Given the description of an element on the screen output the (x, y) to click on. 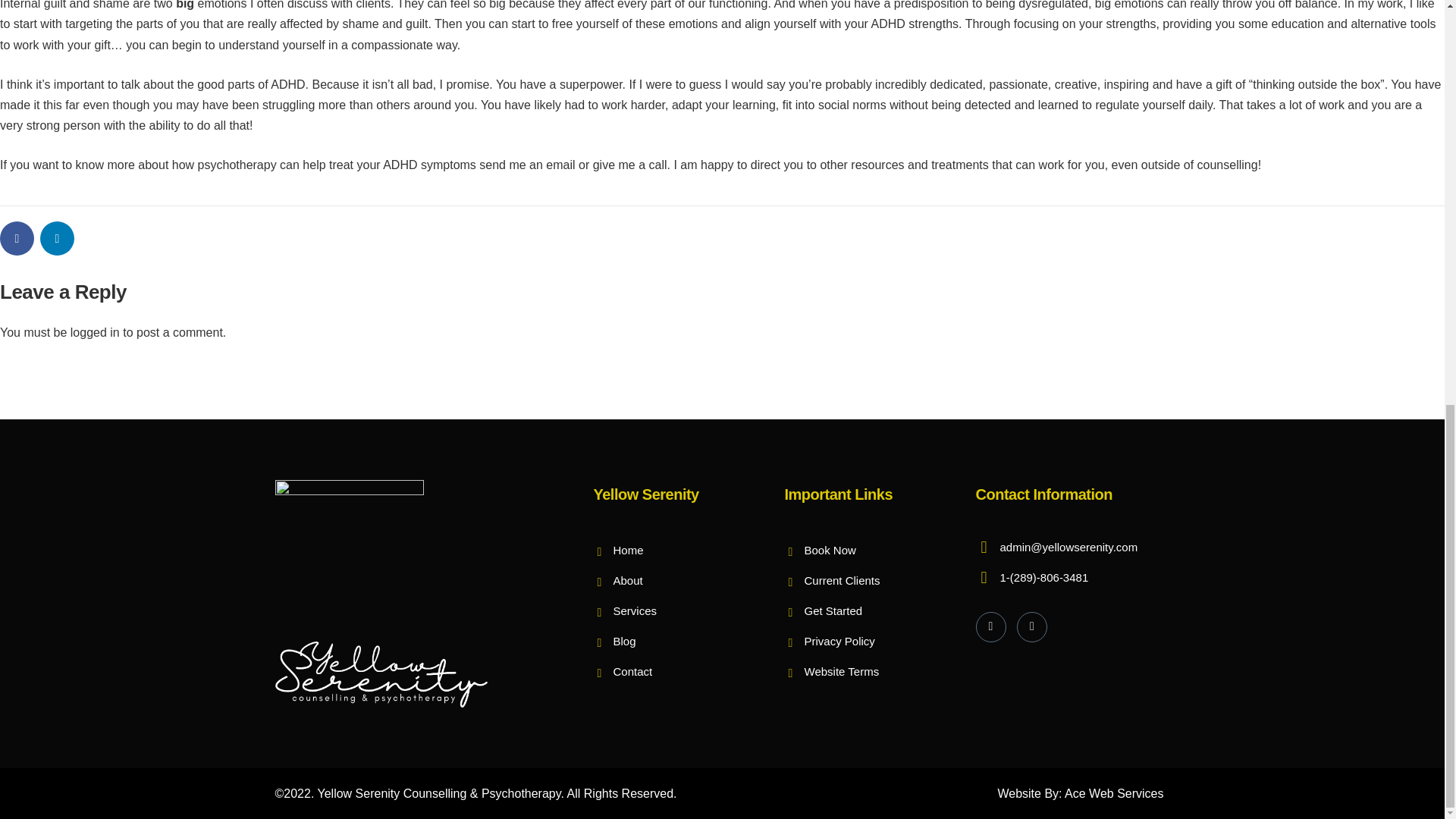
Privacy Policy (829, 641)
Services (624, 611)
Website By: Ace Web Services (1080, 793)
Book Now (820, 550)
Share on LinkedIn (57, 238)
logged in (94, 332)
Blog (613, 641)
Current Clients (831, 580)
Home (617, 550)
Get Started (822, 611)
Contact (622, 671)
Share on Facebook (16, 238)
Website Terms (831, 671)
About (617, 580)
